Given the description of an element on the screen output the (x, y) to click on. 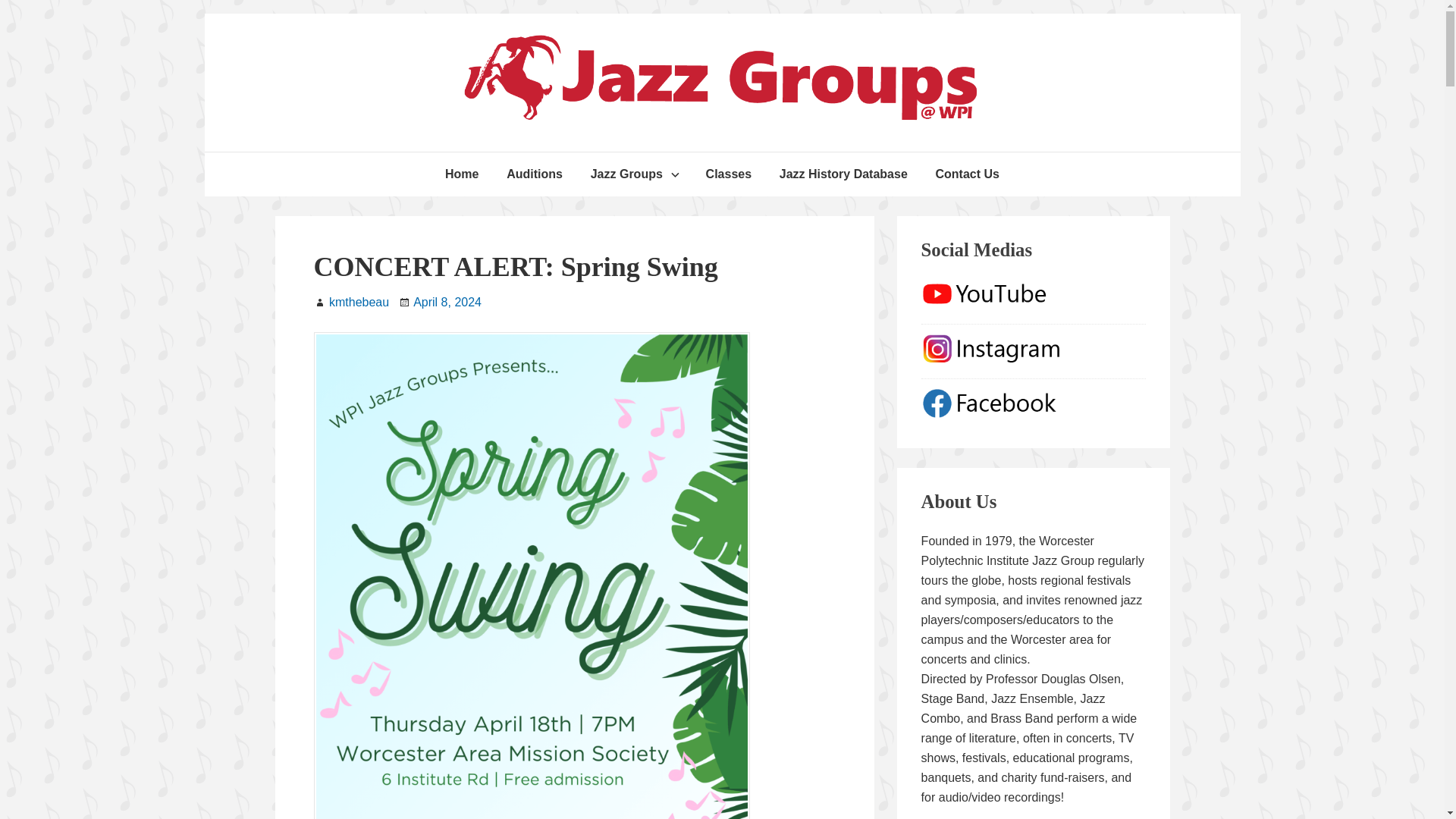
Facebook (1033, 413)
CONCERT ALERT: Spring Swing (515, 266)
Jazz History Database (843, 174)
Instagram (1033, 358)
Jazz Groups (634, 174)
kmthebeau (358, 301)
WPI Jazz Groups (552, 154)
April 8, 2024 (447, 301)
Youtube: WPI Jazz (1033, 303)
Home (461, 174)
Auditions (535, 174)
Contact Us (967, 174)
Youtube: WPI Jazz (1033, 293)
Instagram (1033, 348)
